Given the description of an element on the screen output the (x, y) to click on. 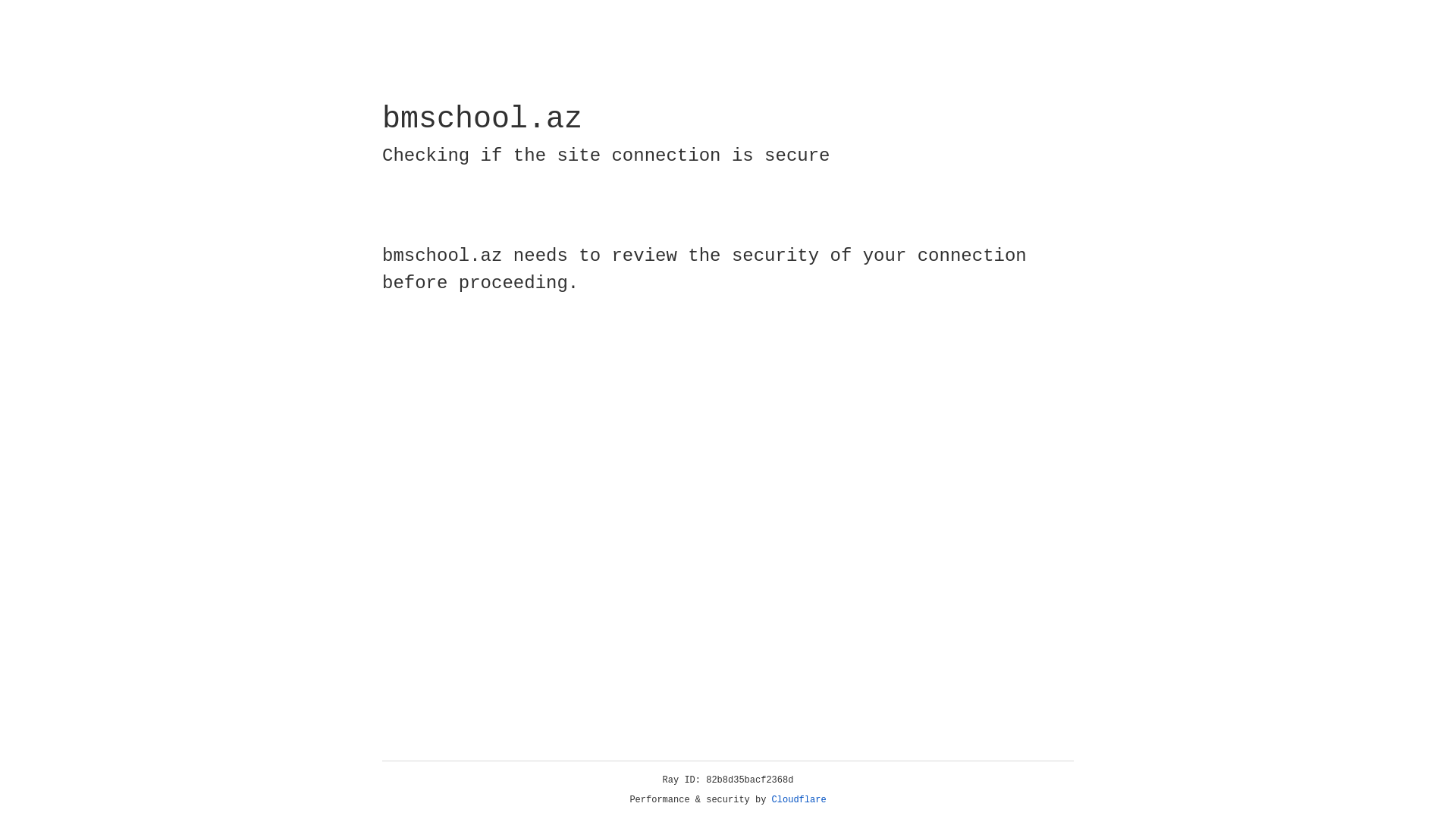
Cloudflare Element type: text (798, 799)
